Given the description of an element on the screen output the (x, y) to click on. 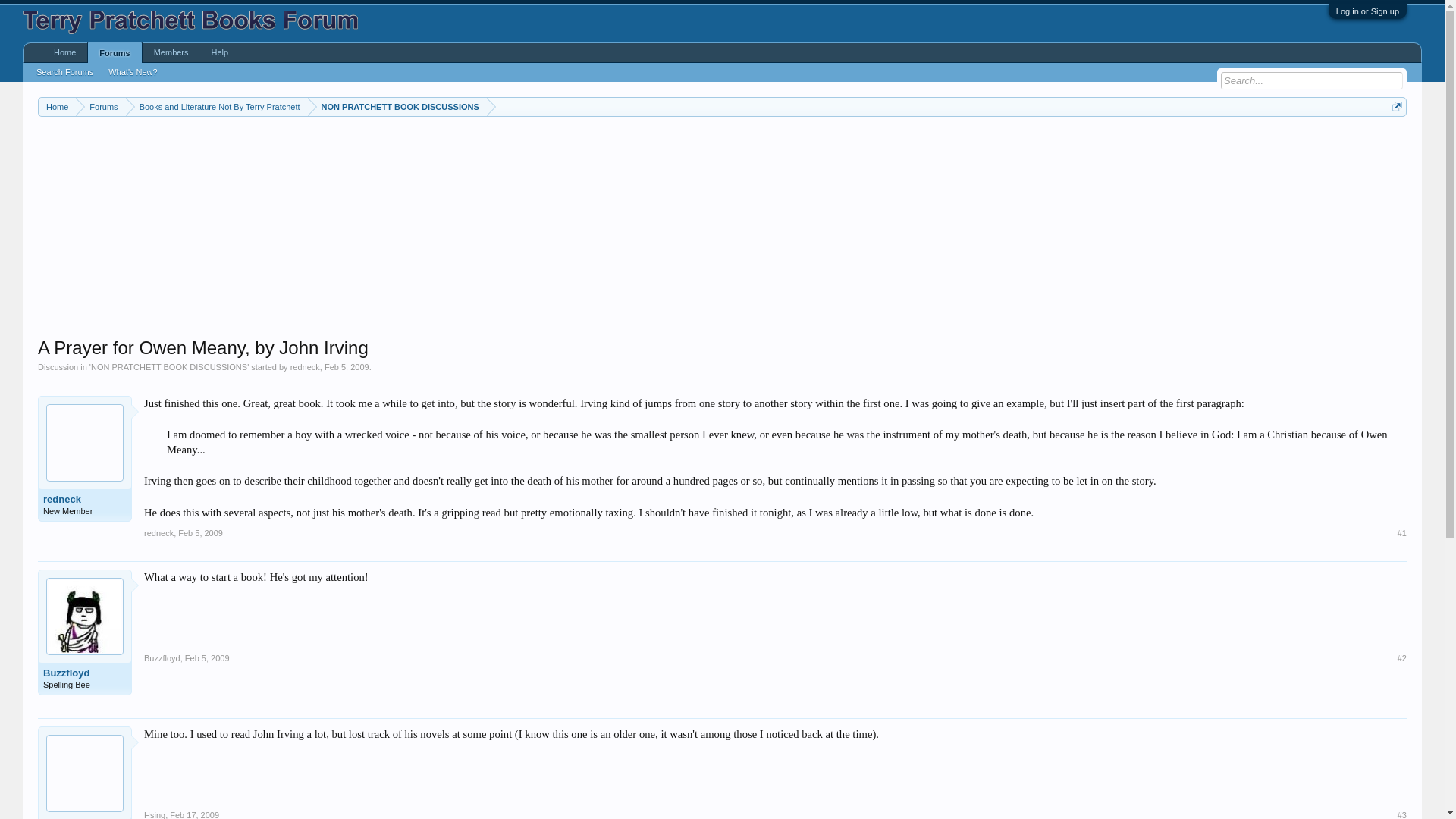
Enter your search and hit enter (1312, 80)
Hsing (154, 814)
redneck (84, 499)
NON PRATCHETT BOOK DISCUSSIONS (396, 107)
Books and Literature Not By Terry Pratchett (216, 107)
Home (64, 52)
redneck (158, 532)
Feb 5, 2009 (346, 366)
Home (57, 107)
Buzzfloyd (162, 657)
Feb 5, 2009 (199, 532)
Feb 5, 2009 (207, 657)
Permalink (207, 657)
Permalink (199, 532)
